Given the description of an element on the screen output the (x, y) to click on. 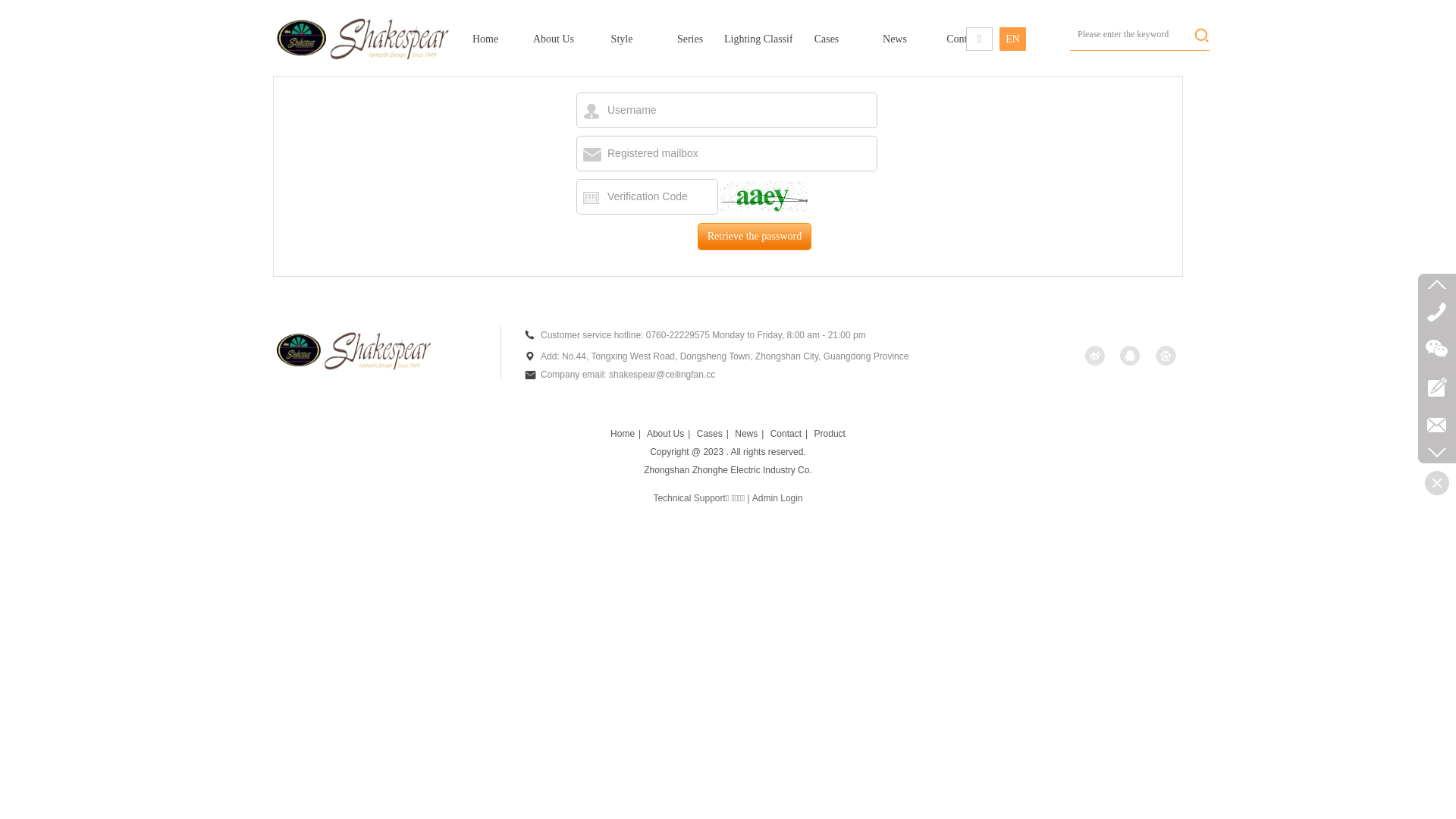
About Us Element type: text (553, 39)
Retrieve the password Element type: text (754, 236)
Cases Element type: text (826, 39)
Style Element type: text (621, 39)
Product Element type: text (829, 433)
Series Element type: text (689, 39)
Cases Element type: text (709, 433)
Contact Element type: text (785, 433)
Home Element type: text (622, 433)
Admin Login Element type: text (777, 497)
Home Element type: text (485, 39)
News Element type: text (745, 433)
Contact Element type: text (962, 39)
About Us Element type: text (665, 433)
Lighting Classification Element type: text (758, 39)
I can't see if you can click to change one Element type: hover (763, 198)
News Element type: text (894, 39)
